Given the description of an element on the screen output the (x, y) to click on. 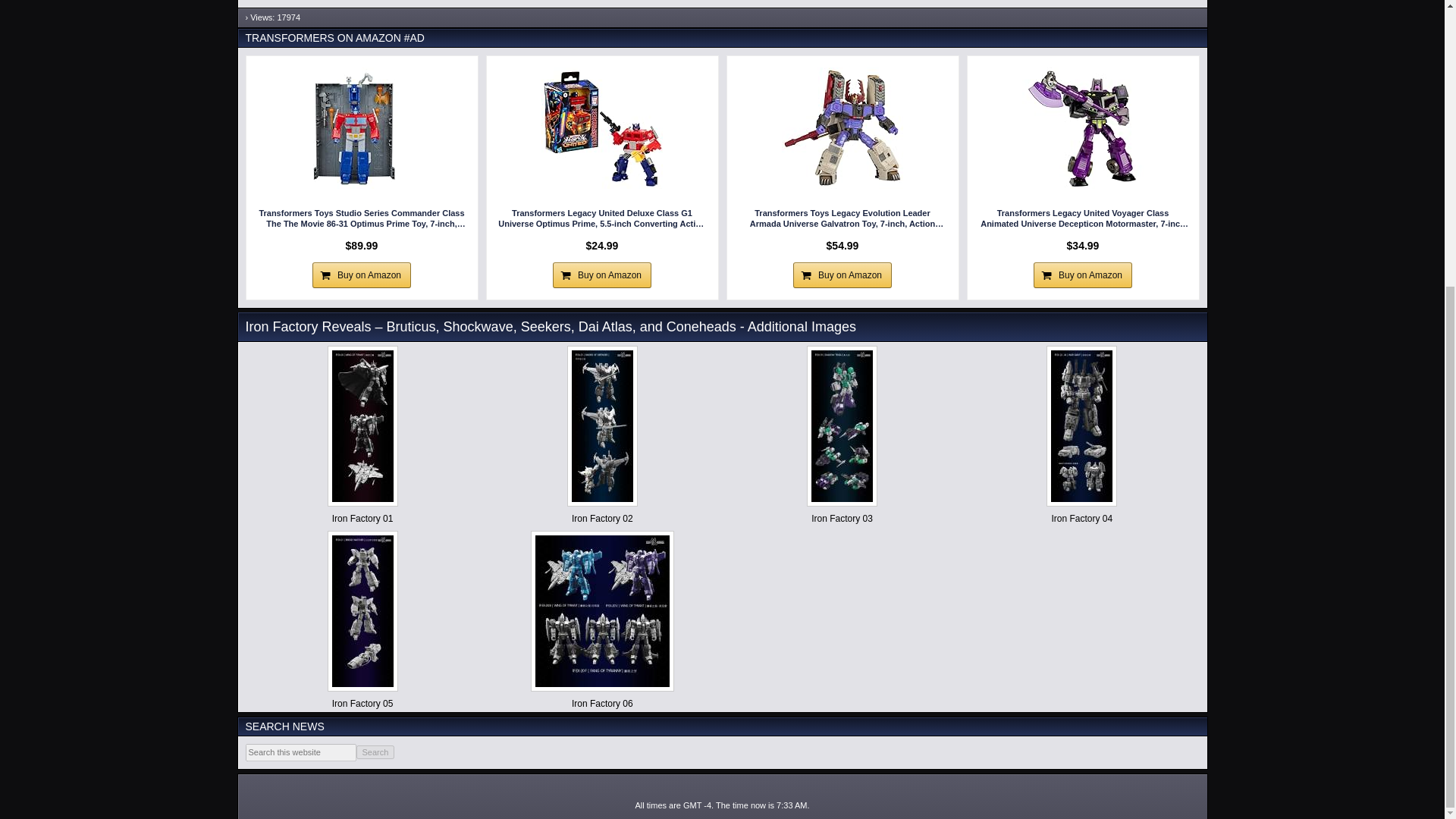
Search (375, 752)
Buy on Amazon (361, 275)
Search (375, 752)
Buy on Amazon (601, 275)
Buy on Amazon (842, 275)
